Given the description of an element on the screen output the (x, y) to click on. 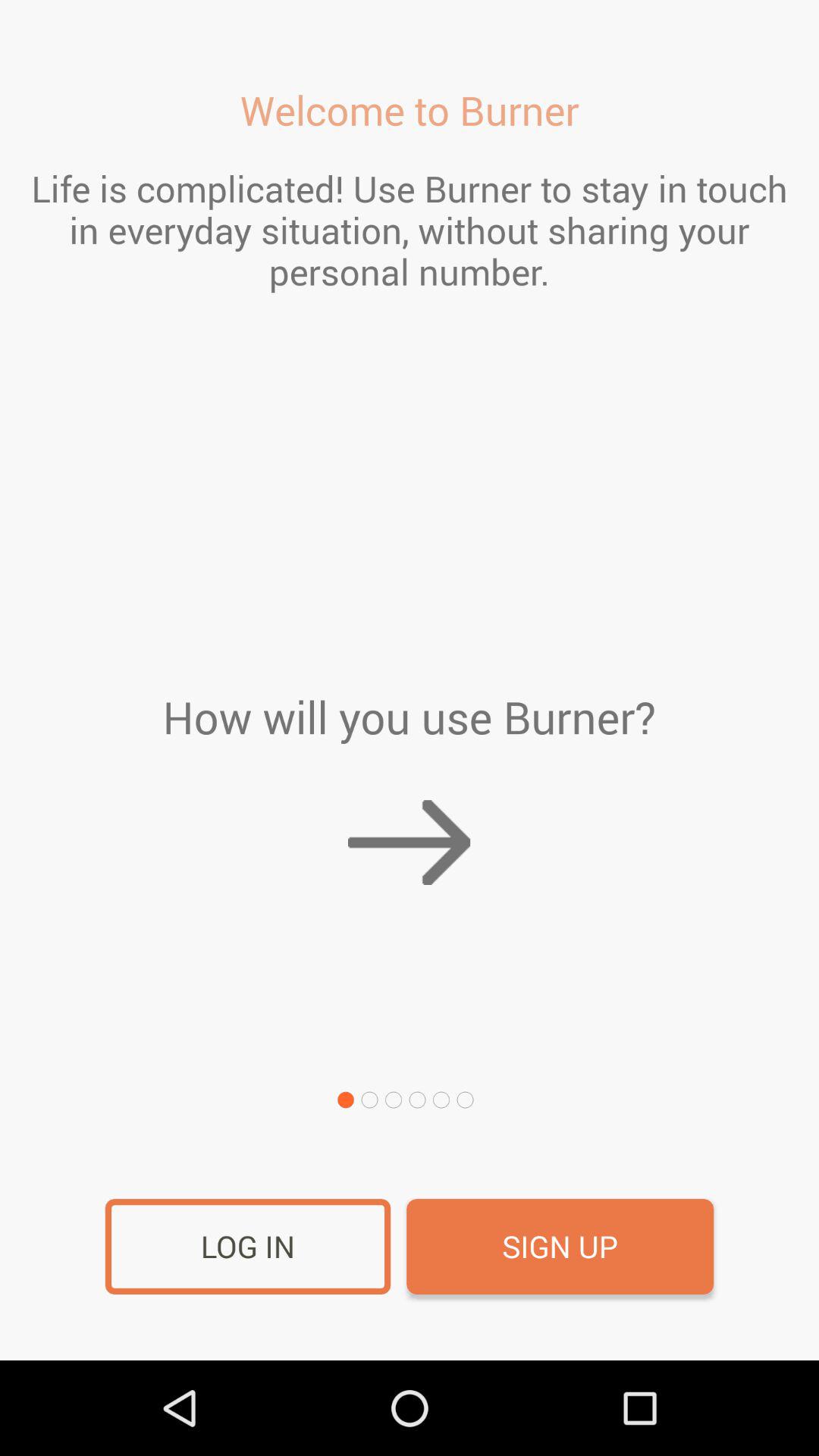
launch the icon to the left of sign up icon (247, 1246)
